Given the description of an element on the screen output the (x, y) to click on. 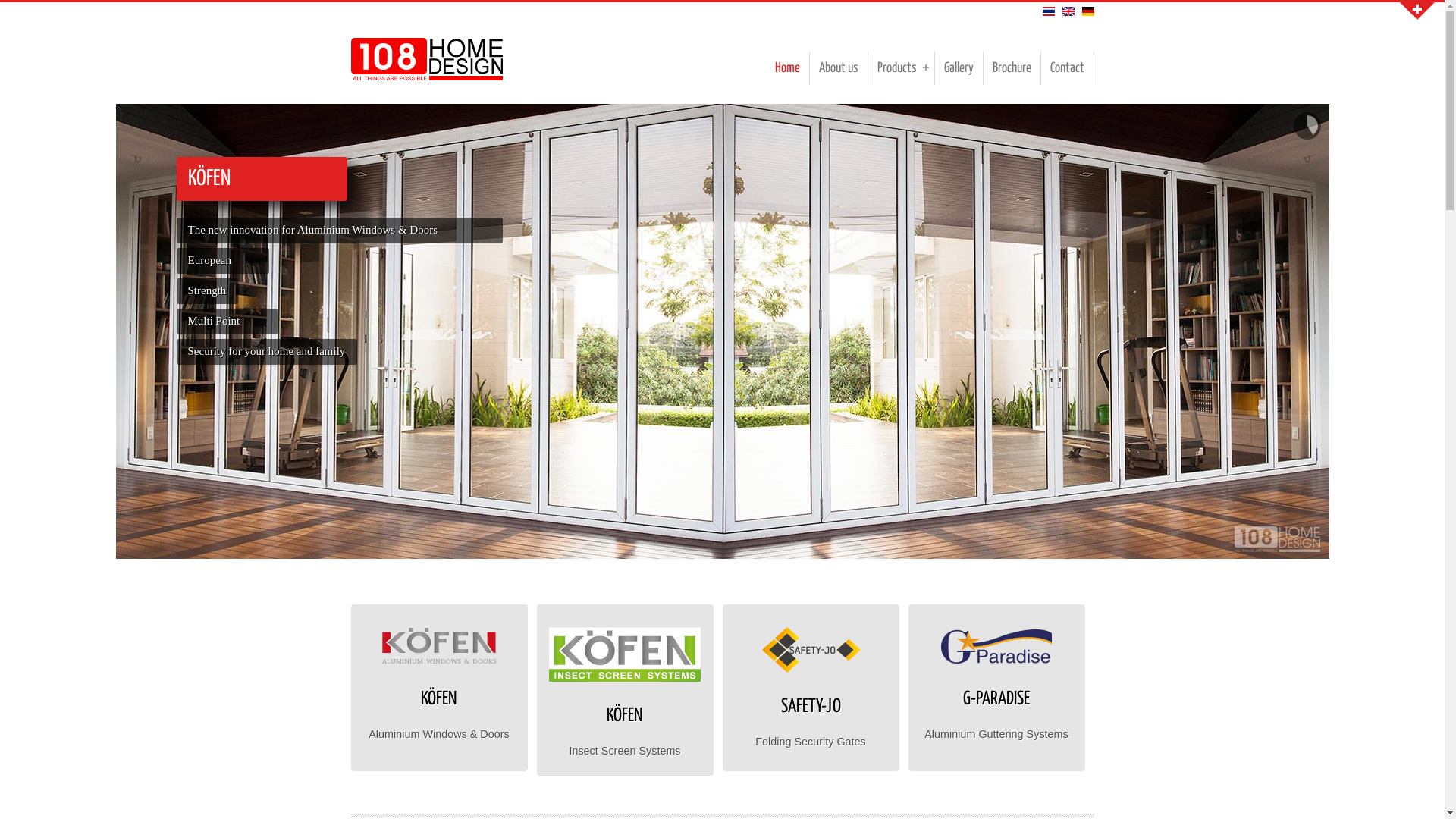
Brochure Element type: text (1011, 67)
Gallery Element type: text (958, 67)
SAFETY-JO Element type: text (810, 697)
Deutsch Element type: hover (1087, 10)
Contact Element type: text (1066, 67)
About us Element type: text (838, 67)
English Element type: hover (1067, 10)
Home Element type: hover (426, 76)
Products Element type: text (900, 67)
Pause Element type: hover (1306, 125)
G-PARADISE Element type: text (996, 690)
Home Element type: text (787, 67)
